Given the description of an element on the screen output the (x, y) to click on. 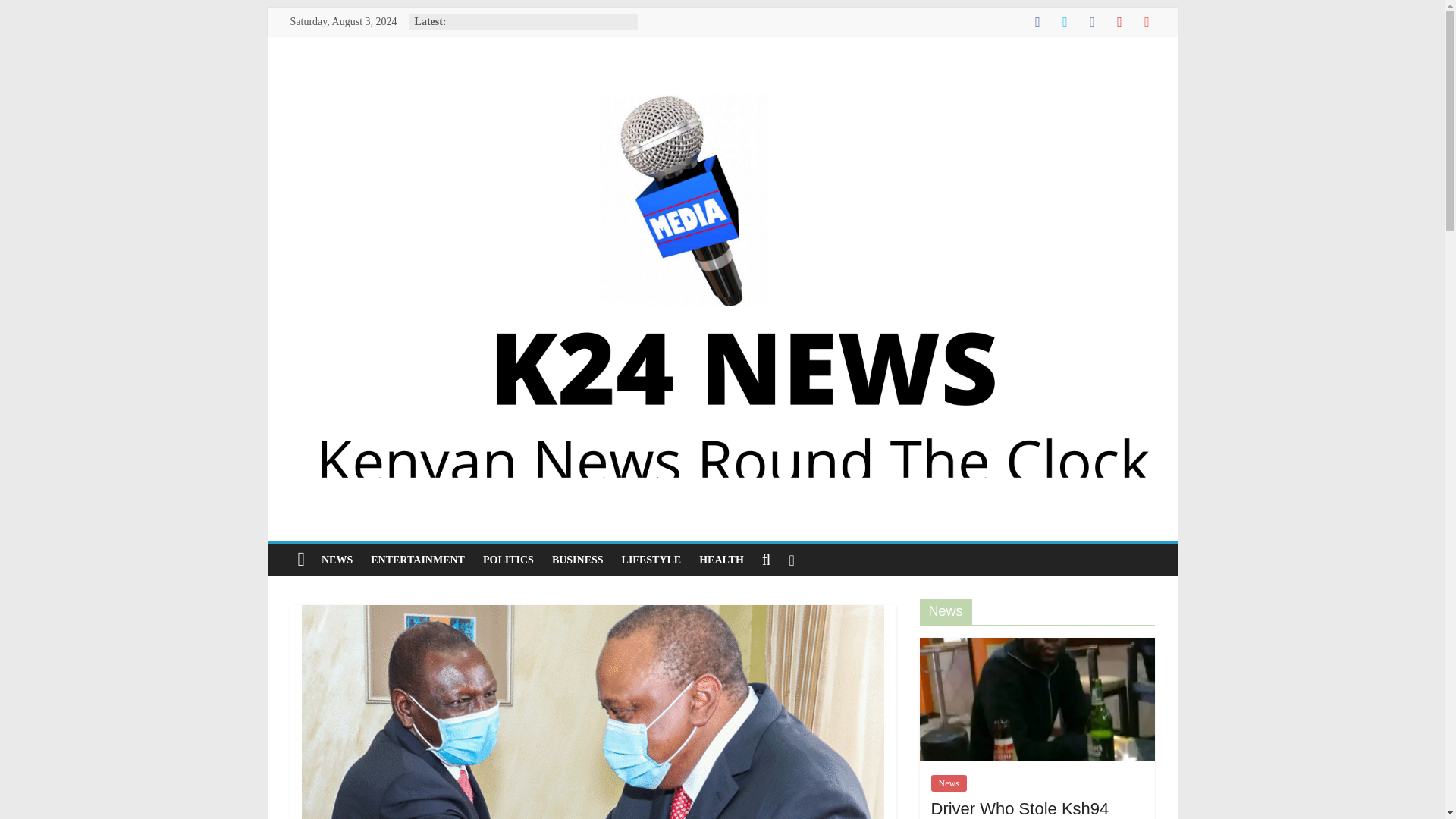
LIFESTYLE (651, 560)
ENTERTAINMENT (417, 560)
NEWS (337, 560)
BUSINESS (577, 560)
POLITICS (508, 560)
HEALTH (721, 560)
